Given the description of an element on the screen output the (x, y) to click on. 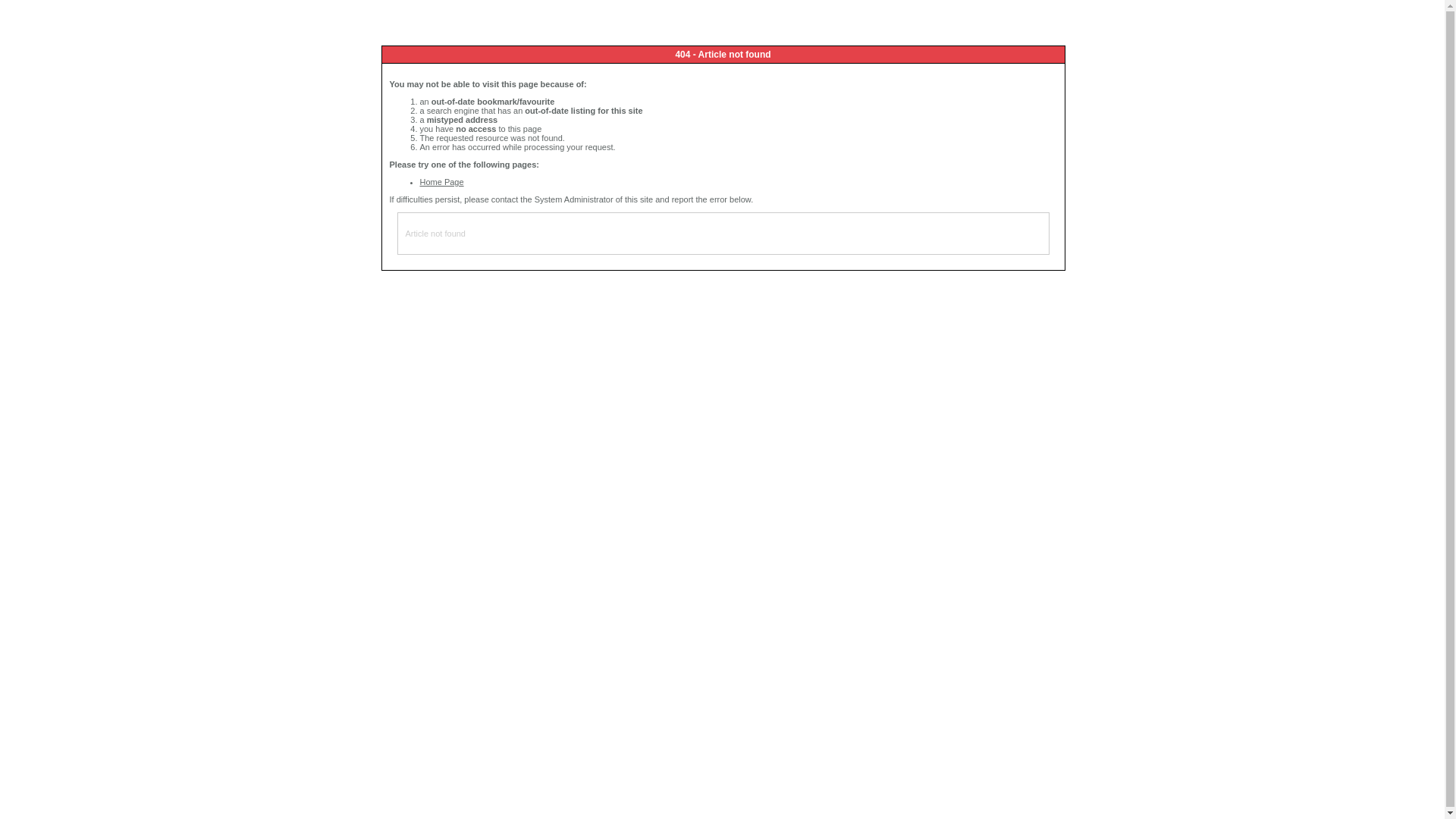
Home Page Element type: text (442, 181)
